Given the description of an element on the screen output the (x, y) to click on. 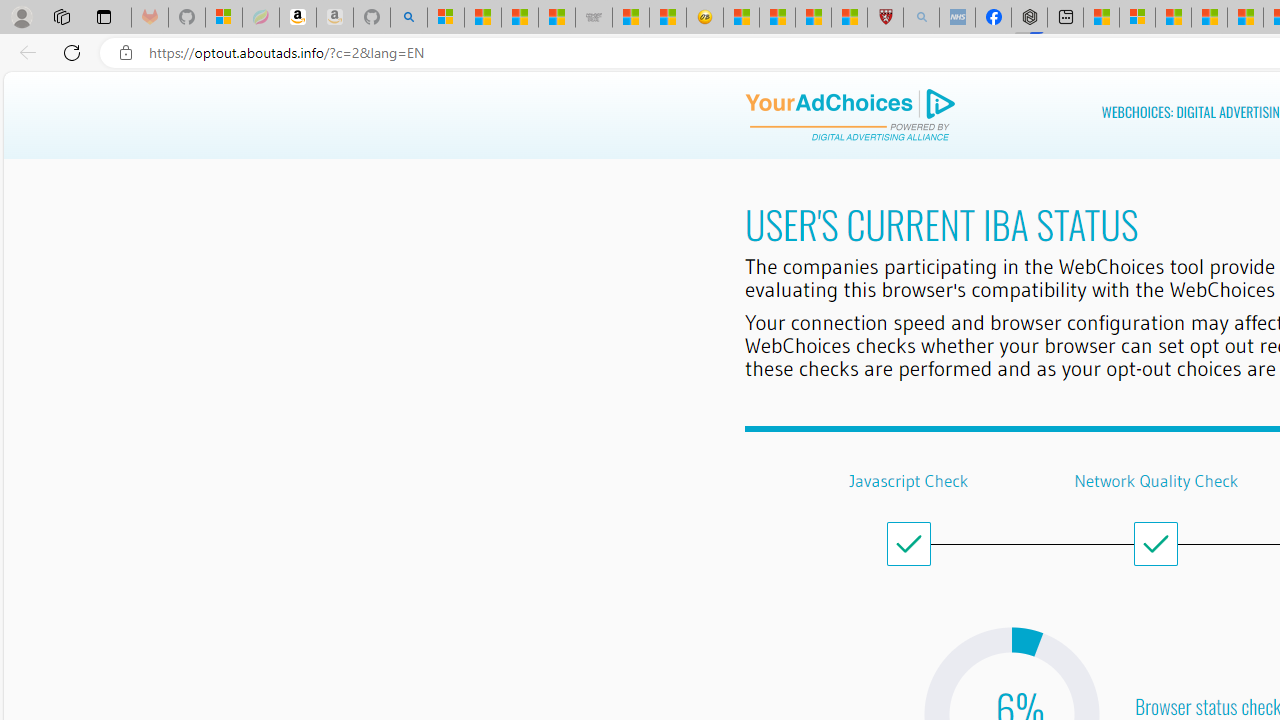
Science - MSN (813, 17)
